Given the description of an element on the screen output the (x, y) to click on. 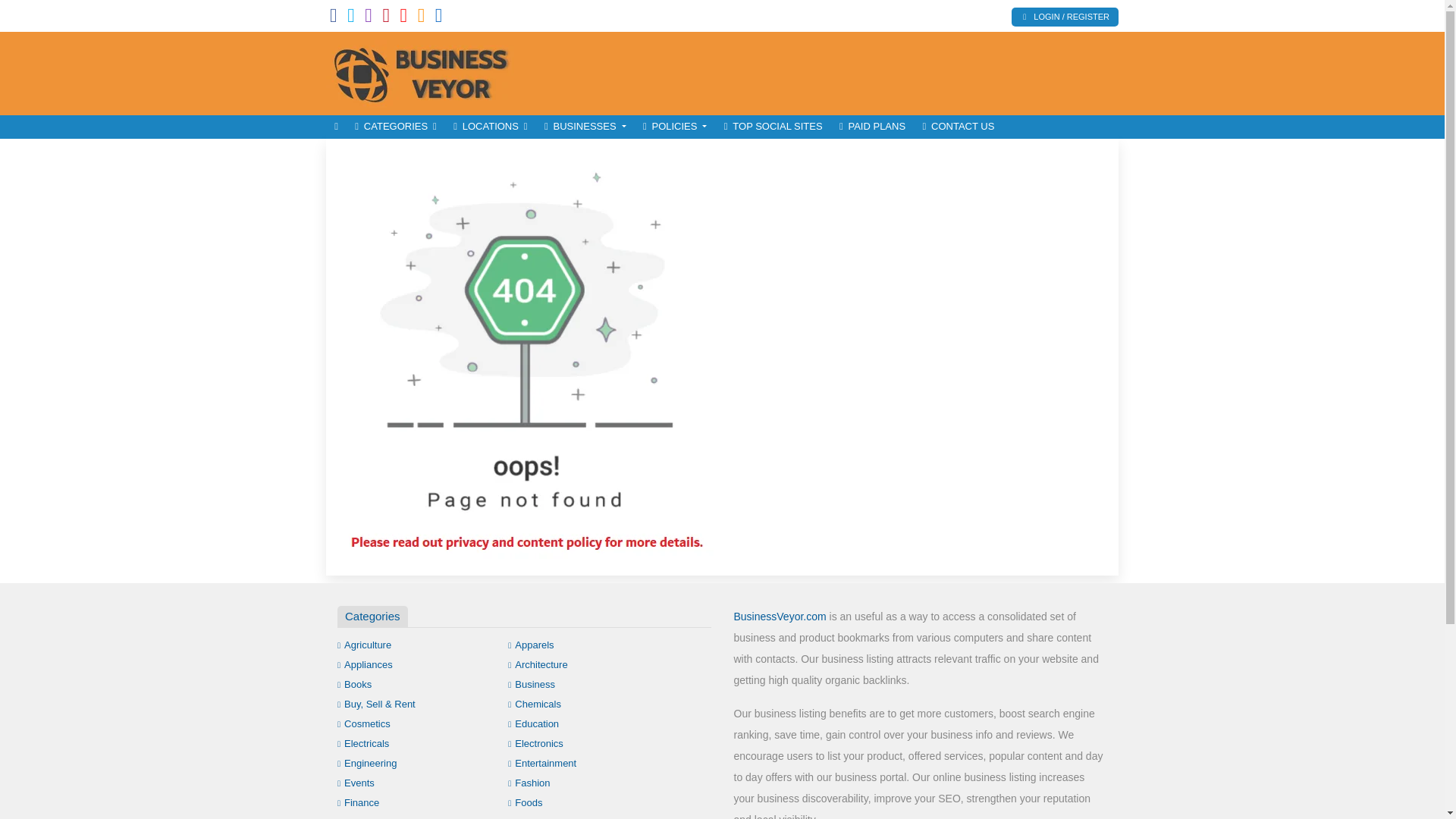
LOCATIONS (490, 126)
Transform Online Communities to Business Lead Generation (428, 71)
CATEGORIES (395, 126)
